Given the description of an element on the screen output the (x, y) to click on. 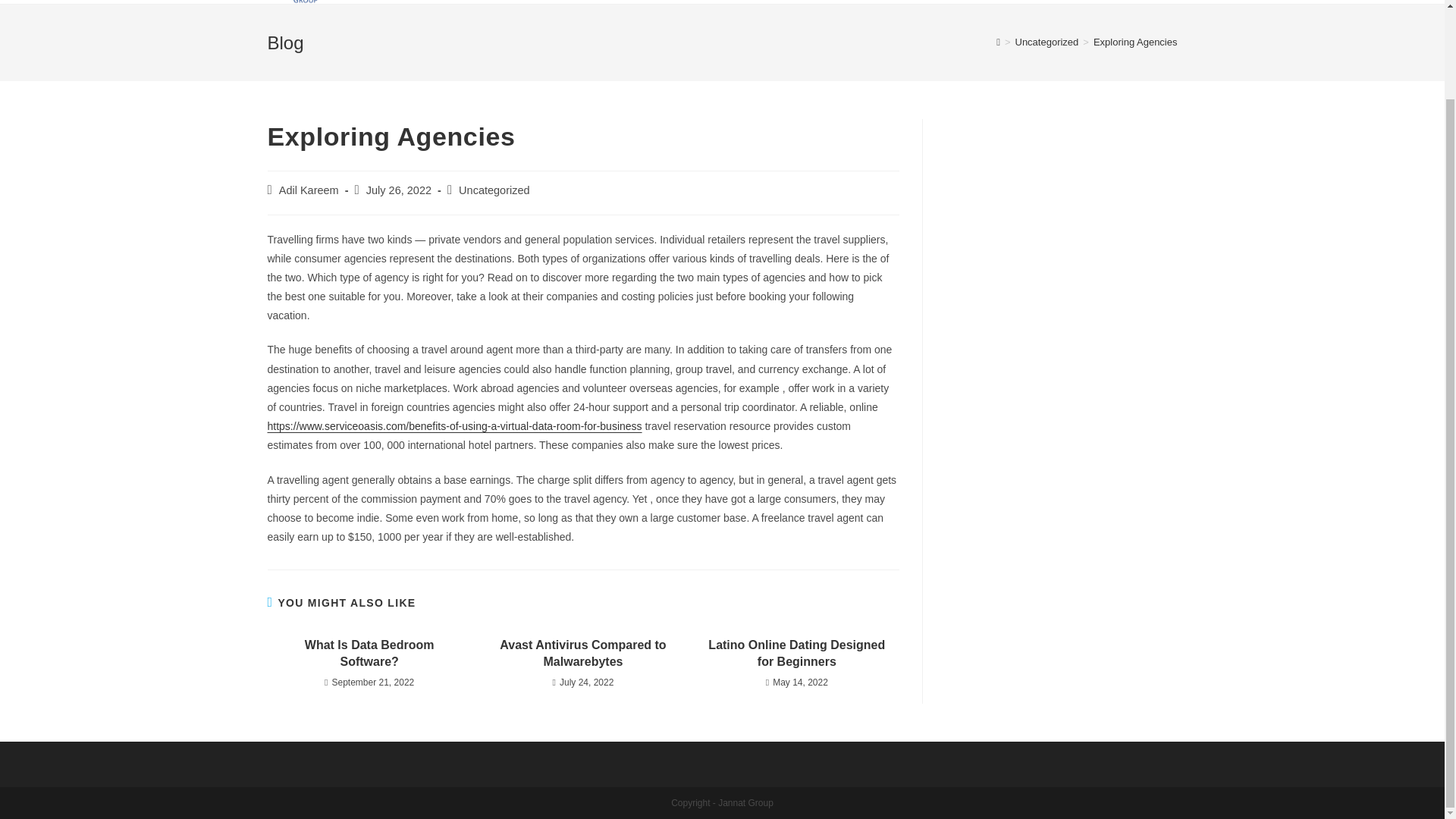
What Is Data Bedroom Software? (368, 653)
Uncategorized (493, 190)
Adil Kareem (309, 190)
Exploring Agencies (1135, 41)
Uncategorized (1046, 41)
Posts by Adil Kareem (309, 190)
Latino Online Dating Designed for Beginners (796, 653)
Avast Antivirus Compared to Malwarebytes (582, 653)
